Given the description of an element on the screen output the (x, y) to click on. 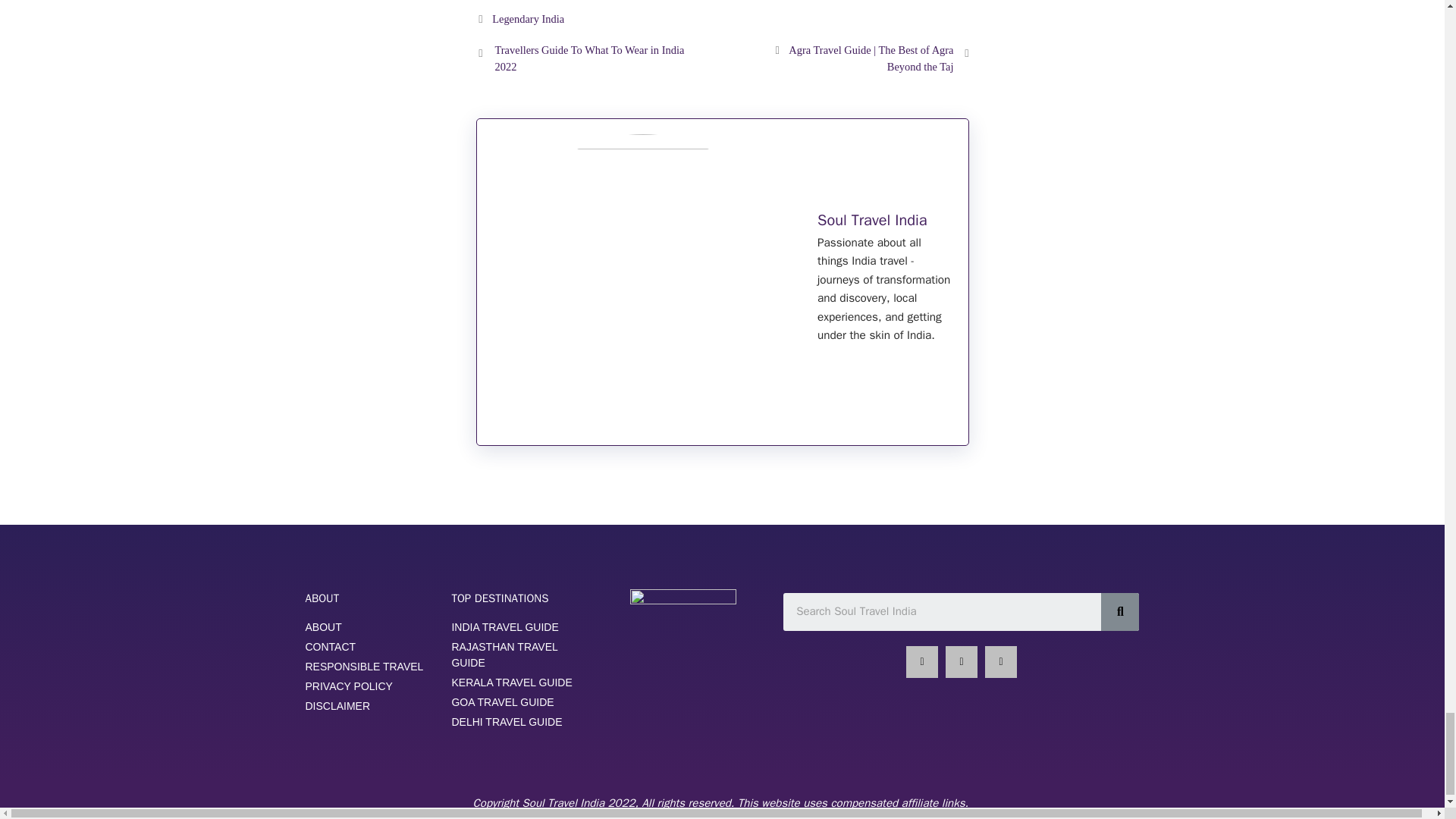
Travellers Guide To What To Wear in India 2022 (589, 58)
Legendary India (528, 19)
RAJASTHAN TRAVEL GUIDE (516, 654)
RESPONSIBLE TRAVEL (369, 666)
Search (941, 611)
PRIVACY POLICY (369, 686)
ABOUT (369, 627)
DISCLAIMER (369, 706)
Search (1119, 611)
CONTACT (369, 647)
